Given the description of an element on the screen output the (x, y) to click on. 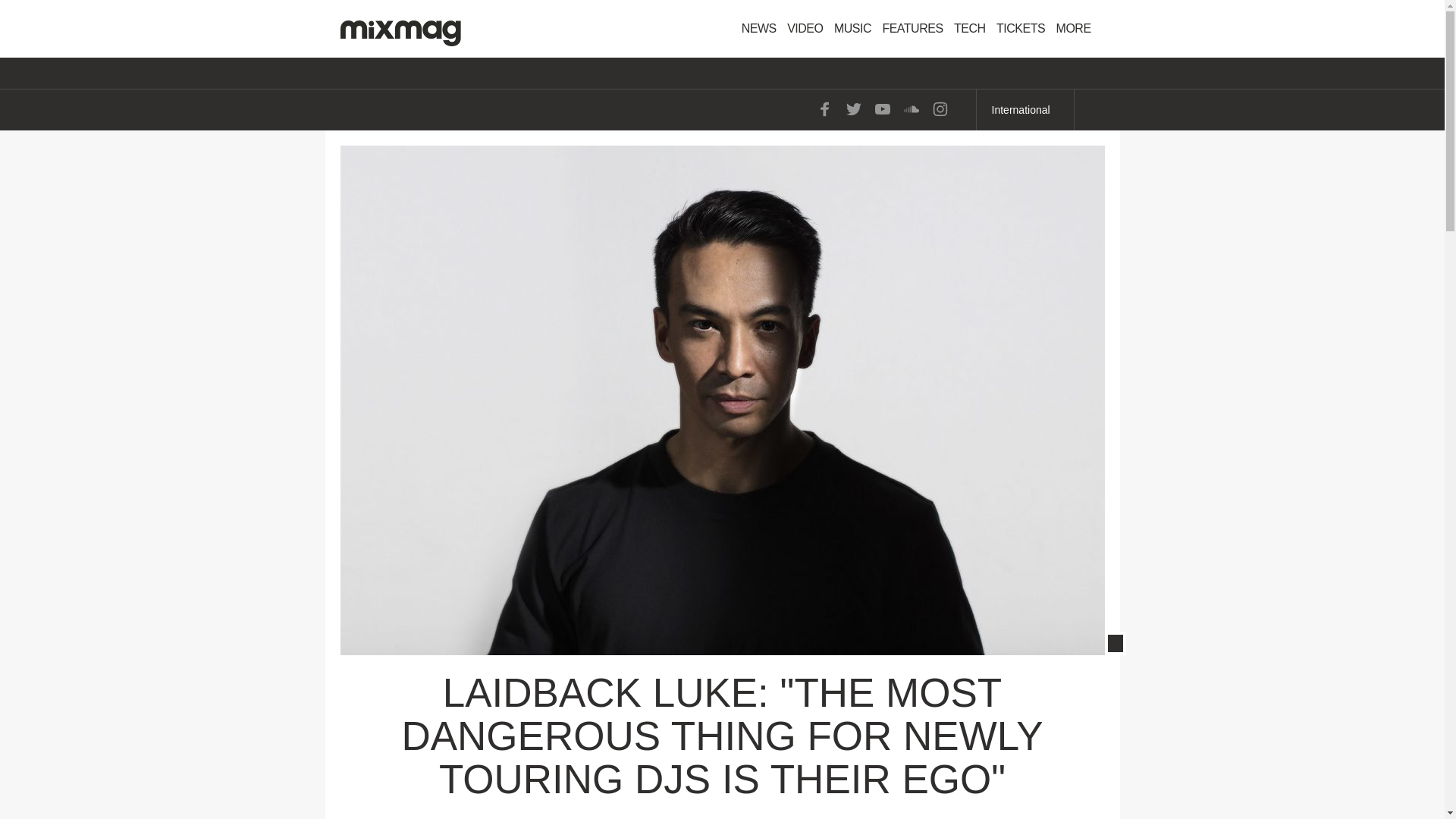
MORE (1078, 28)
FEATURES (911, 28)
TICKETS (1020, 28)
